Given the description of an element on the screen output the (x, y) to click on. 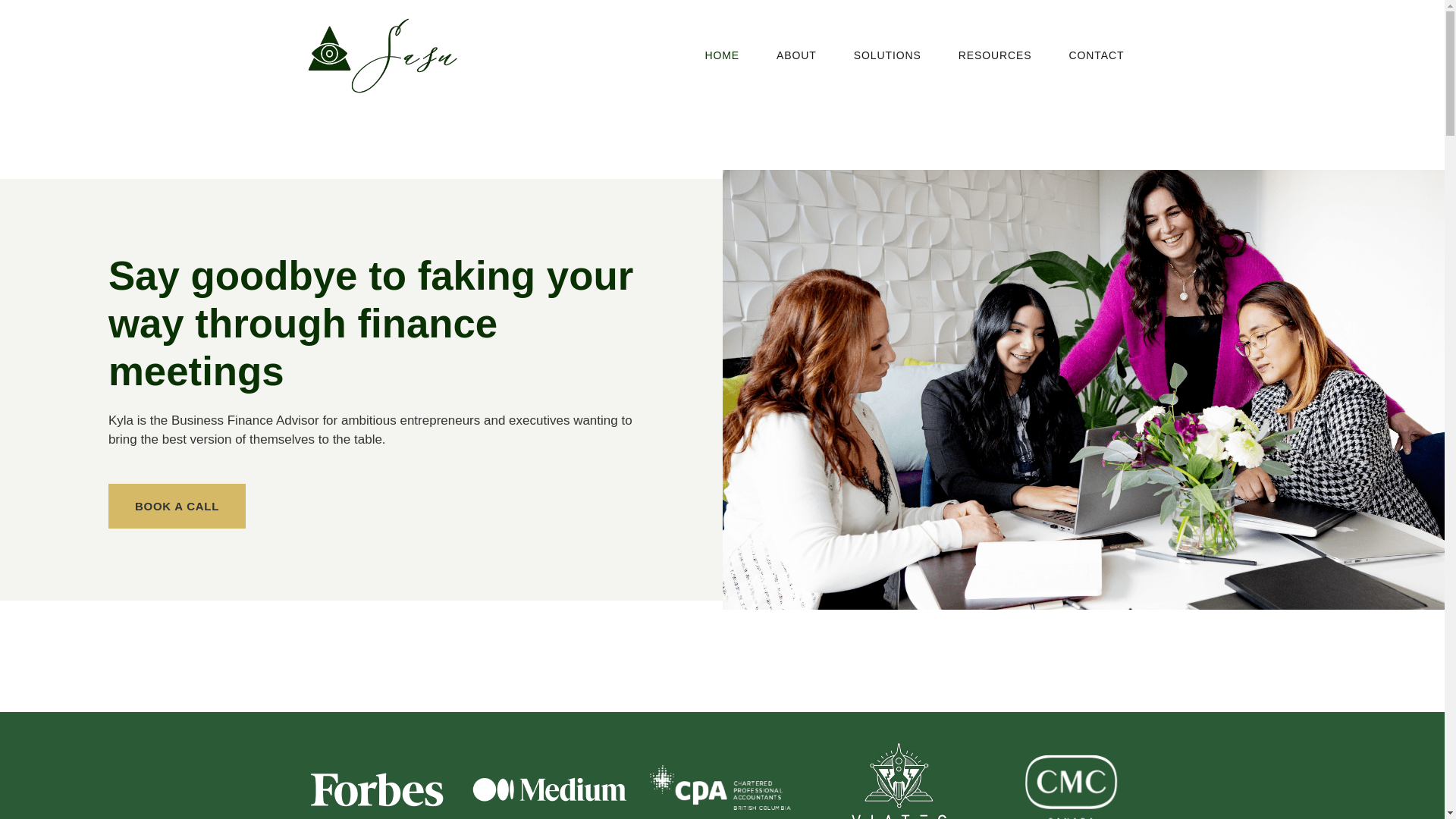
RESOURCES (994, 54)
HOME (721, 54)
SOLUTIONS (887, 54)
ABOUT (796, 54)
home (381, 55)
BOOK A CALL (176, 506)
CONTACT (1097, 54)
